Given the description of an element on the screen output the (x, y) to click on. 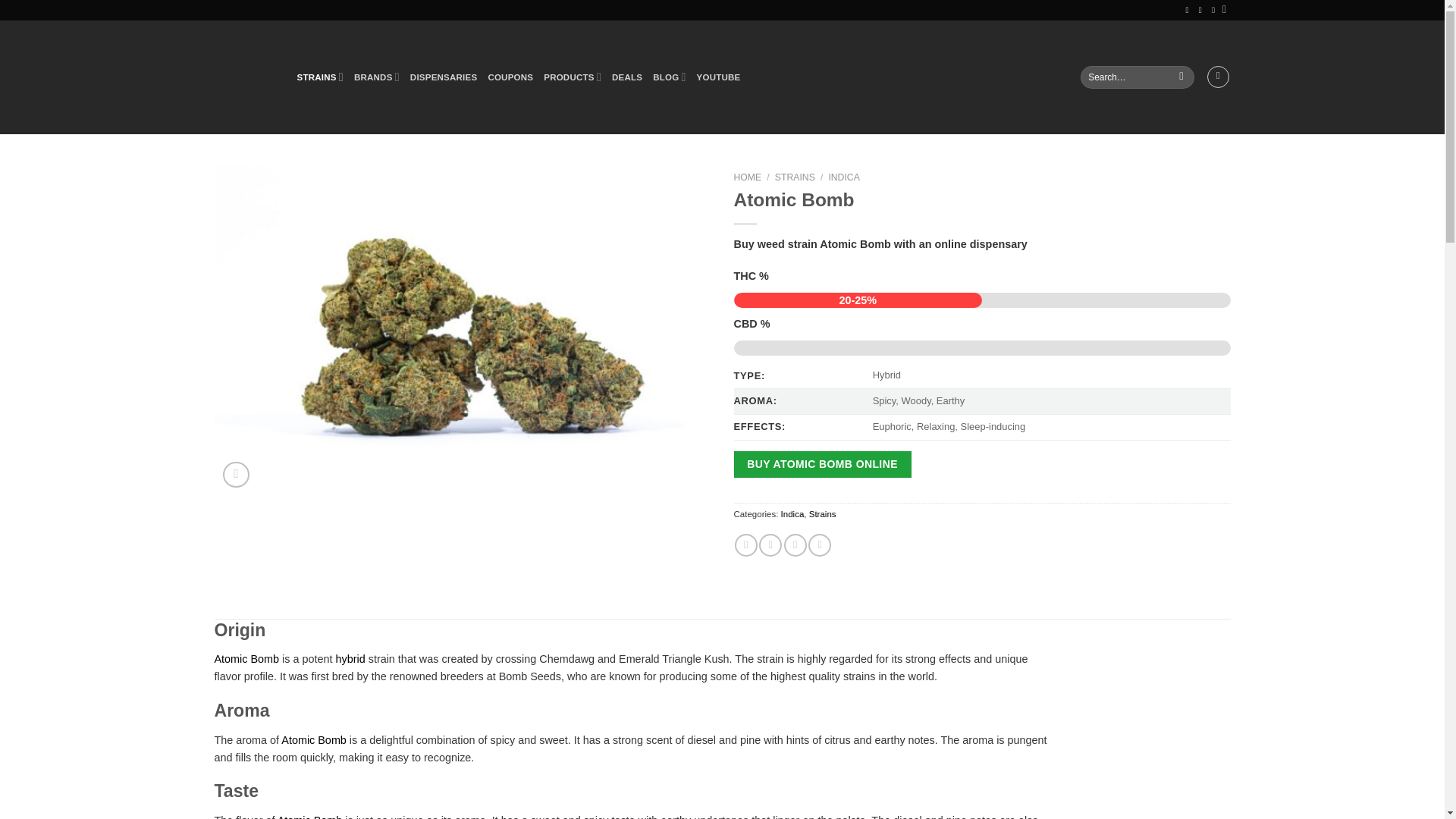
Follow on Discord (1215, 9)
DISPENSARIES (443, 77)
Zoom (235, 474)
Share on Facebook (746, 544)
PRODUCTS (572, 77)
Follow on YouTube (1202, 9)
Share on Twitter (769, 544)
Follow on Instagram (1189, 9)
Email to a Friend (795, 544)
